Given the description of an element on the screen output the (x, y) to click on. 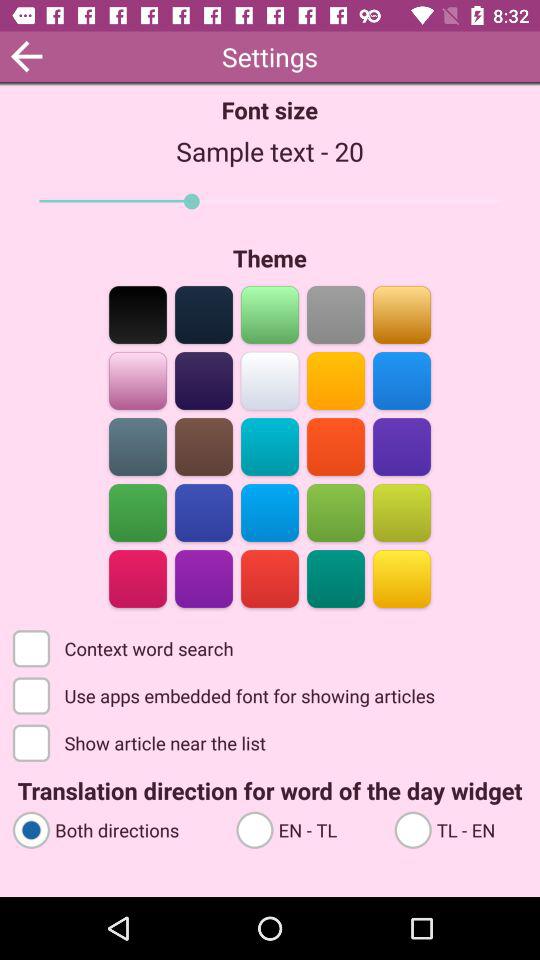
select this color (335, 577)
